Given the description of an element on the screen output the (x, y) to click on. 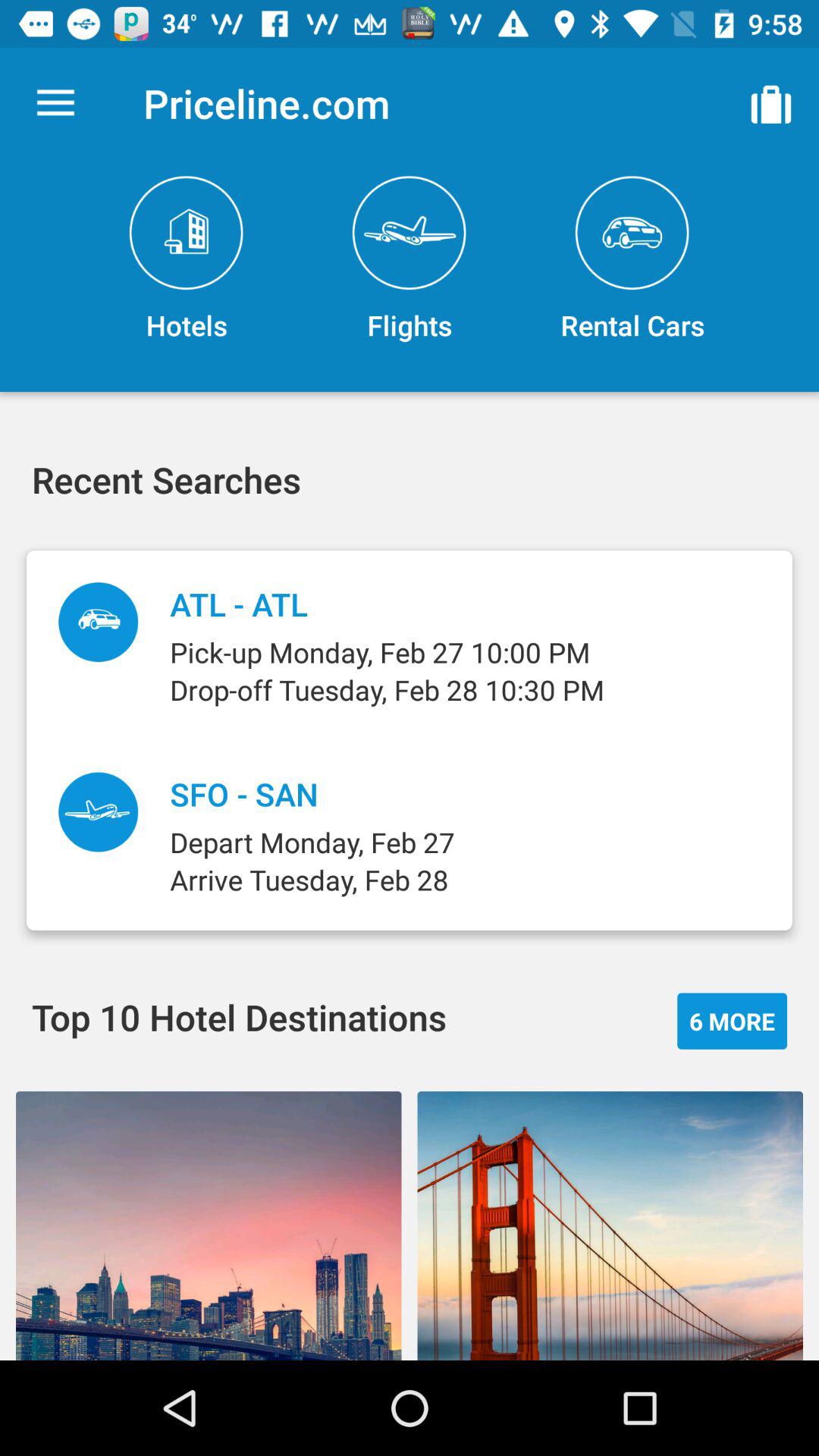
tap item next to rental cars icon (409, 259)
